Given the description of an element on the screen output the (x, y) to click on. 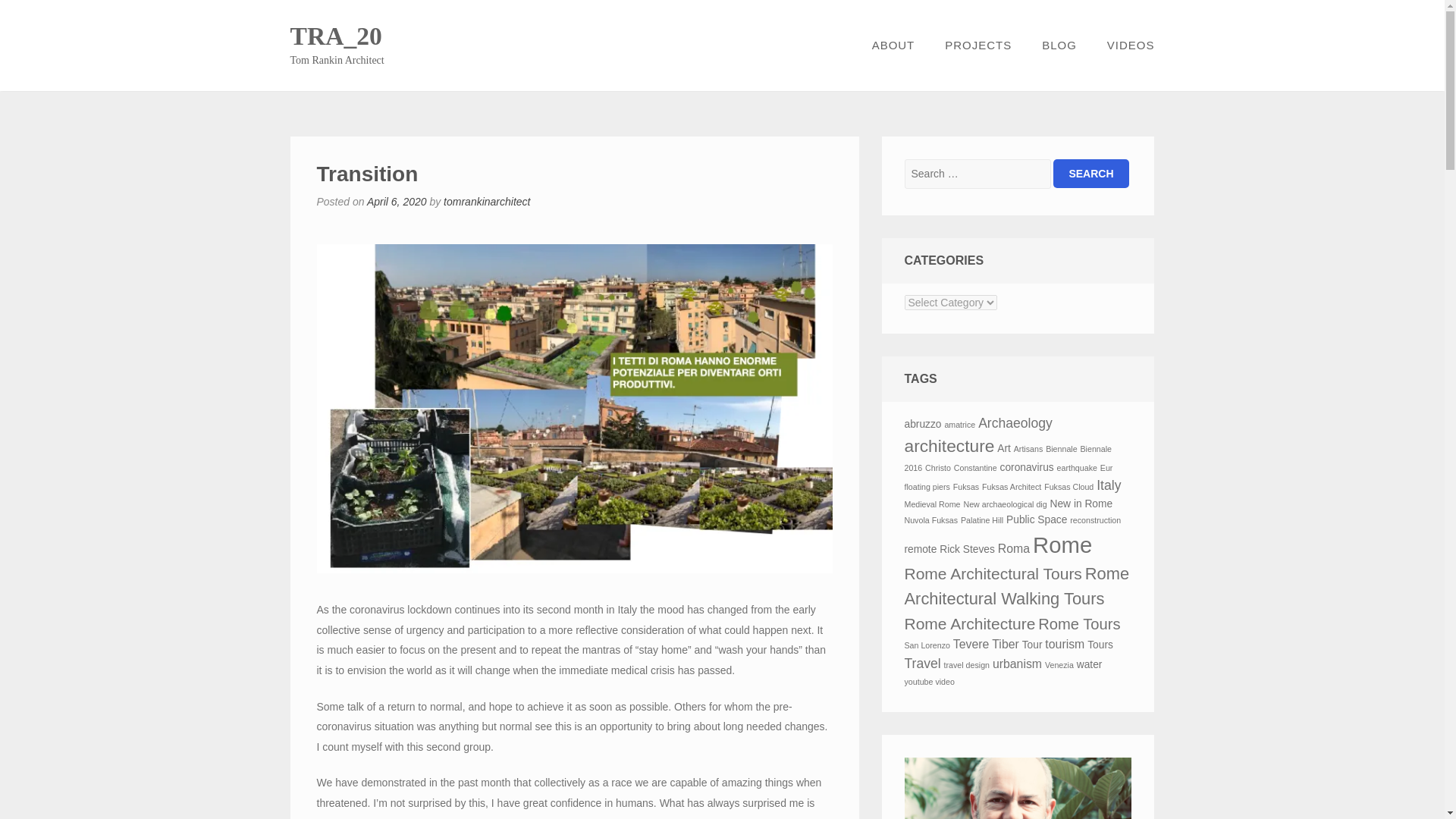
Search (1090, 173)
PROJECTS (978, 45)
abruzzo (922, 423)
architecture (949, 445)
Search (1090, 173)
Search (1090, 173)
Art (1003, 448)
tomrankinarchitect (486, 201)
Archaeology (1015, 422)
April 6, 2020 (396, 201)
amatrice (959, 424)
